Given the description of an element on the screen output the (x, y) to click on. 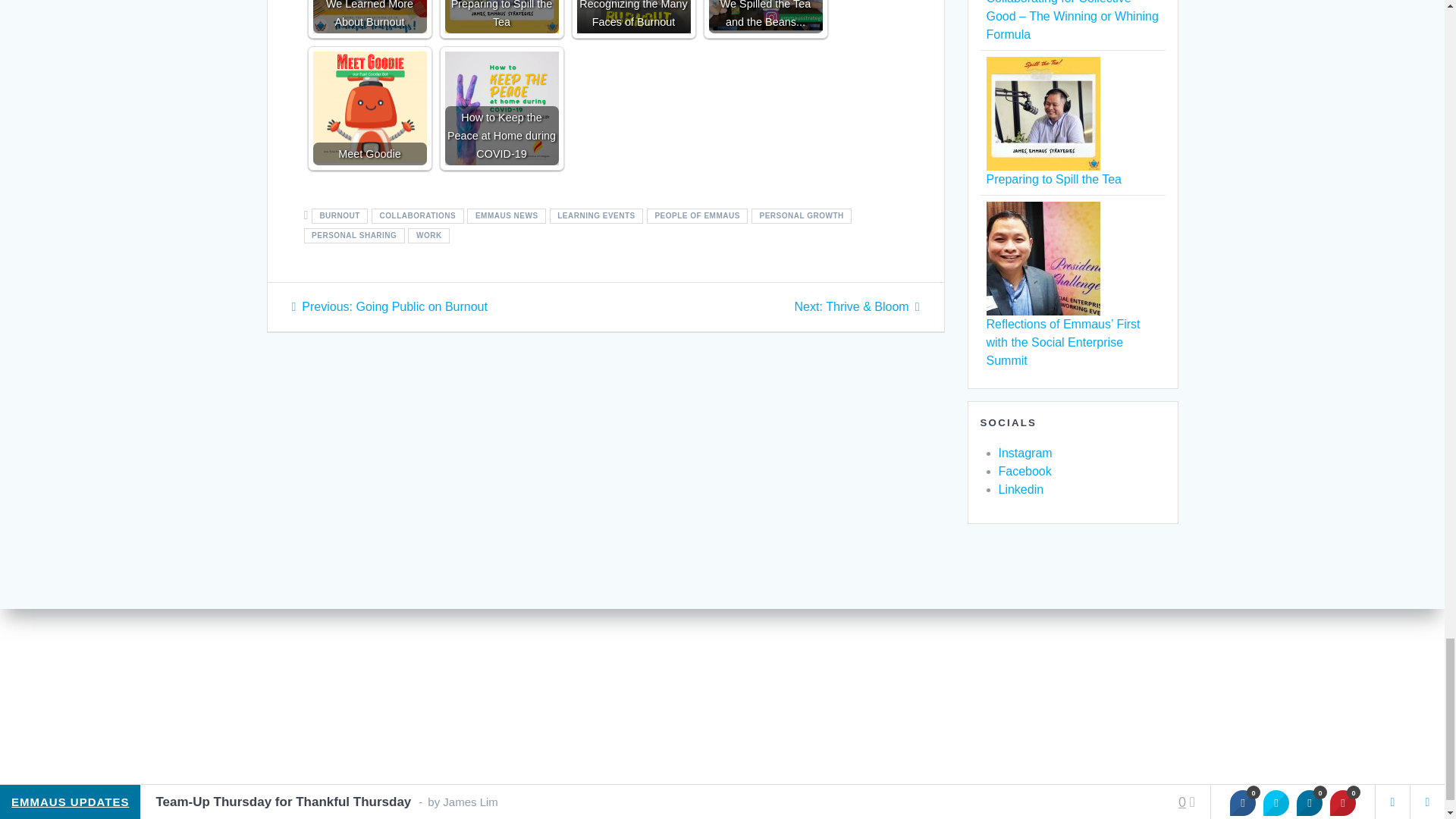
We Learned More About Burnout (369, 16)
Meet Goodie (369, 107)
How to Keep the Peace at Home during COVID-19 (500, 108)
Preparing to Spill the Tea (500, 16)
We Spilled the Tea and the Beans... (764, 16)
Recognizing the Many Faces of Burnout (633, 16)
